Given the description of an element on the screen output the (x, y) to click on. 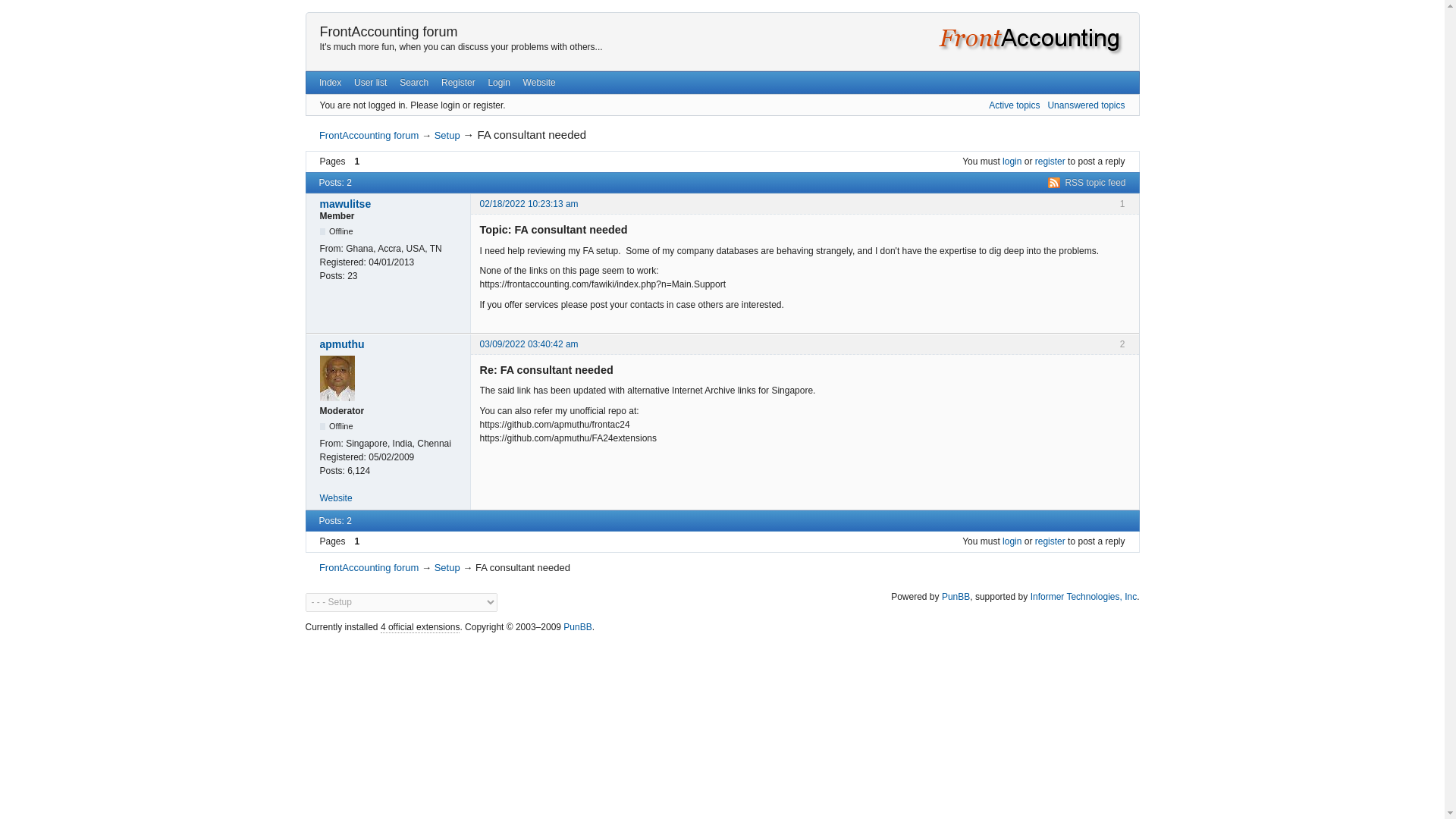
Website (539, 82)
Setup (446, 134)
Advertisement (721, 671)
User list (370, 82)
Find topics which have not been replied to. (1085, 104)
Go (511, 601)
Find topics which contain recent posts. (1013, 104)
Login (498, 82)
PunBB (577, 626)
mawulitse (390, 203)
